Given the description of an element on the screen output the (x, y) to click on. 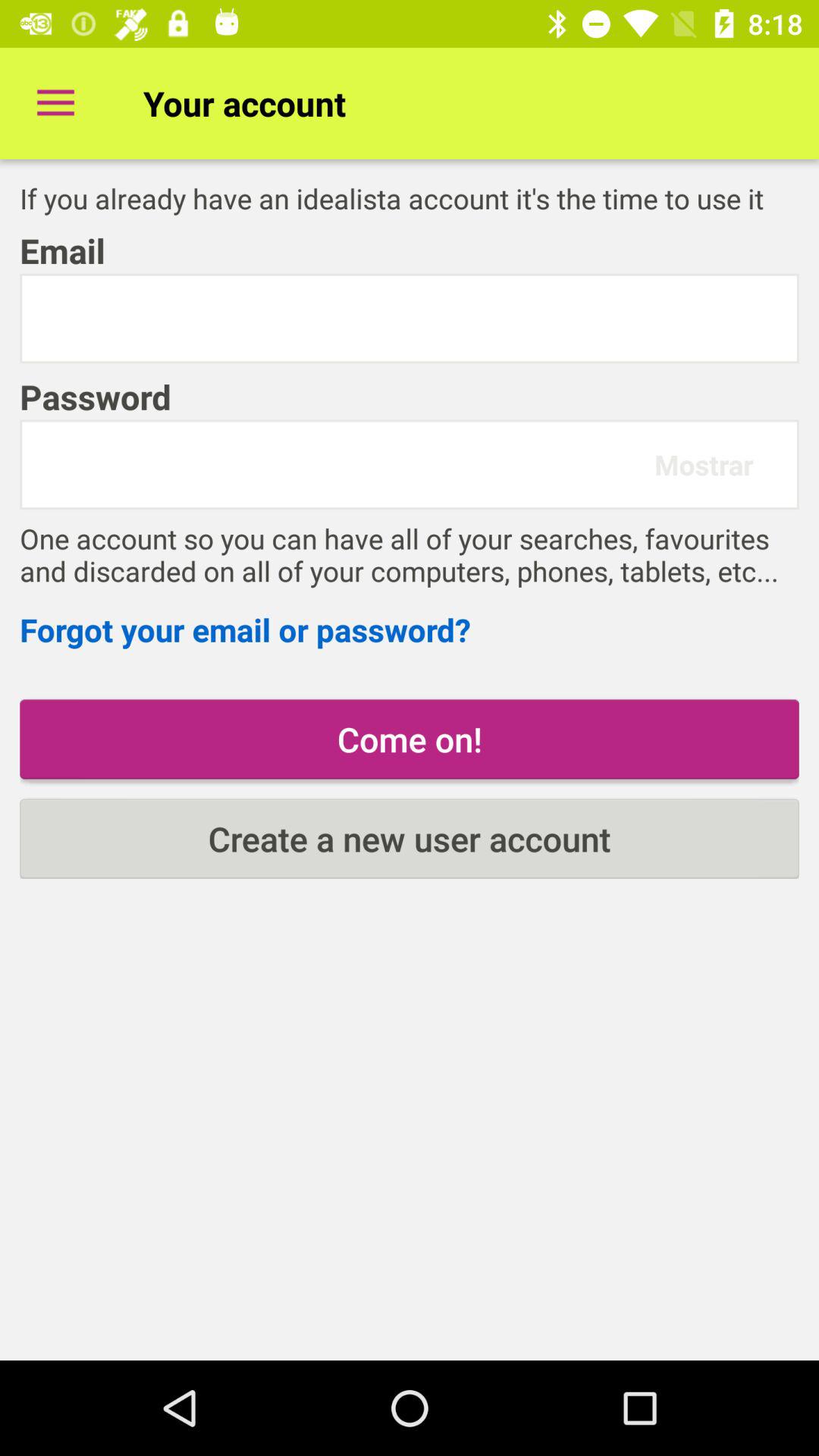
press the icon next to your account item (55, 103)
